Given the description of an element on the screen output the (x, y) to click on. 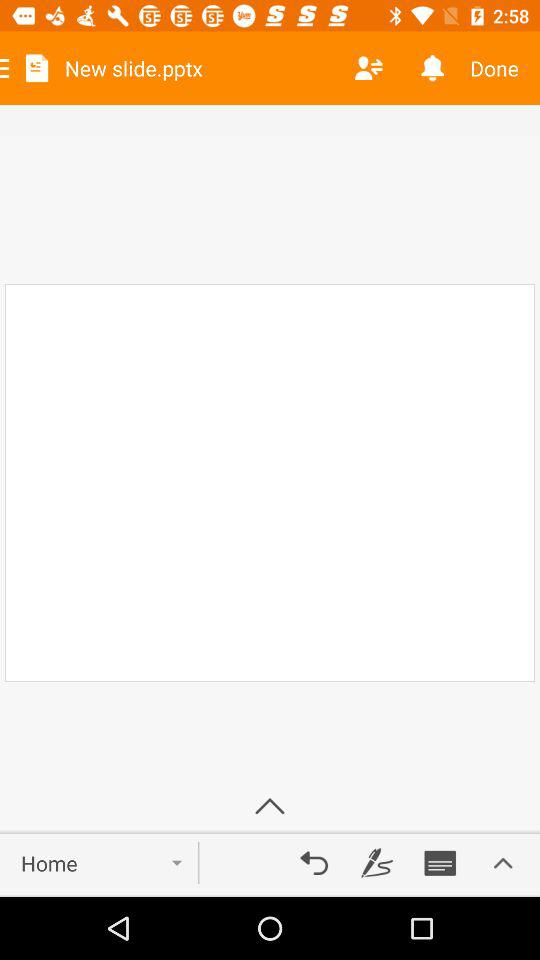
notepad (440, 863)
